Given the description of an element on the screen output the (x, y) to click on. 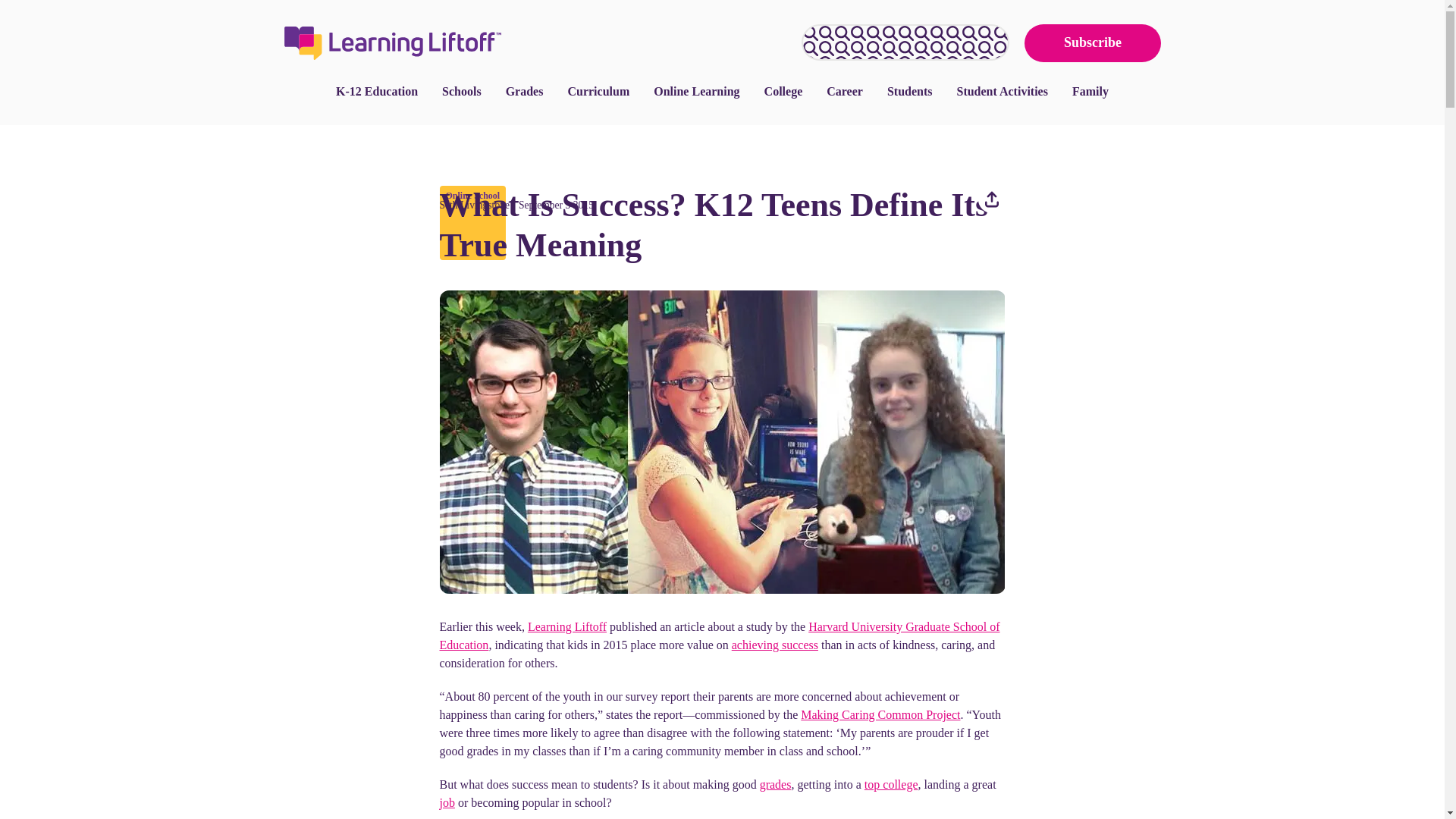
Career (844, 91)
Students (909, 91)
Online School (472, 195)
Making Caring Common Project (879, 714)
Online Learning (696, 91)
Learning Liftoff (567, 626)
Grades (524, 91)
Harvard University Graduate School of Education (719, 635)
Subscribe (1092, 43)
